Given the description of an element on the screen output the (x, y) to click on. 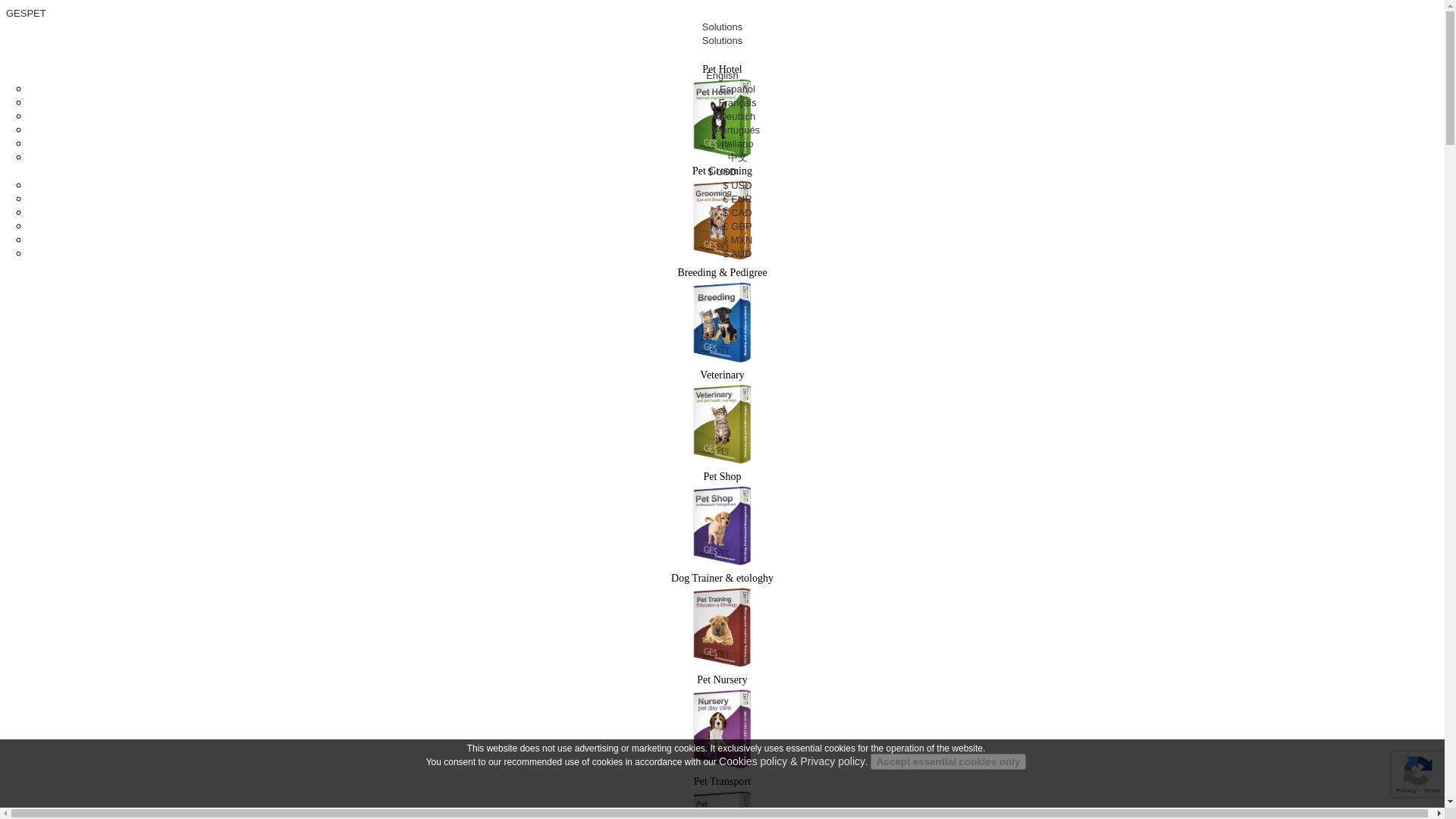
Deutsch (737, 116)
Solutions (721, 26)
Italiano (738, 143)
GESPET (25, 12)
Solutions (721, 40)
English (722, 75)
